Given the description of an element on the screen output the (x, y) to click on. 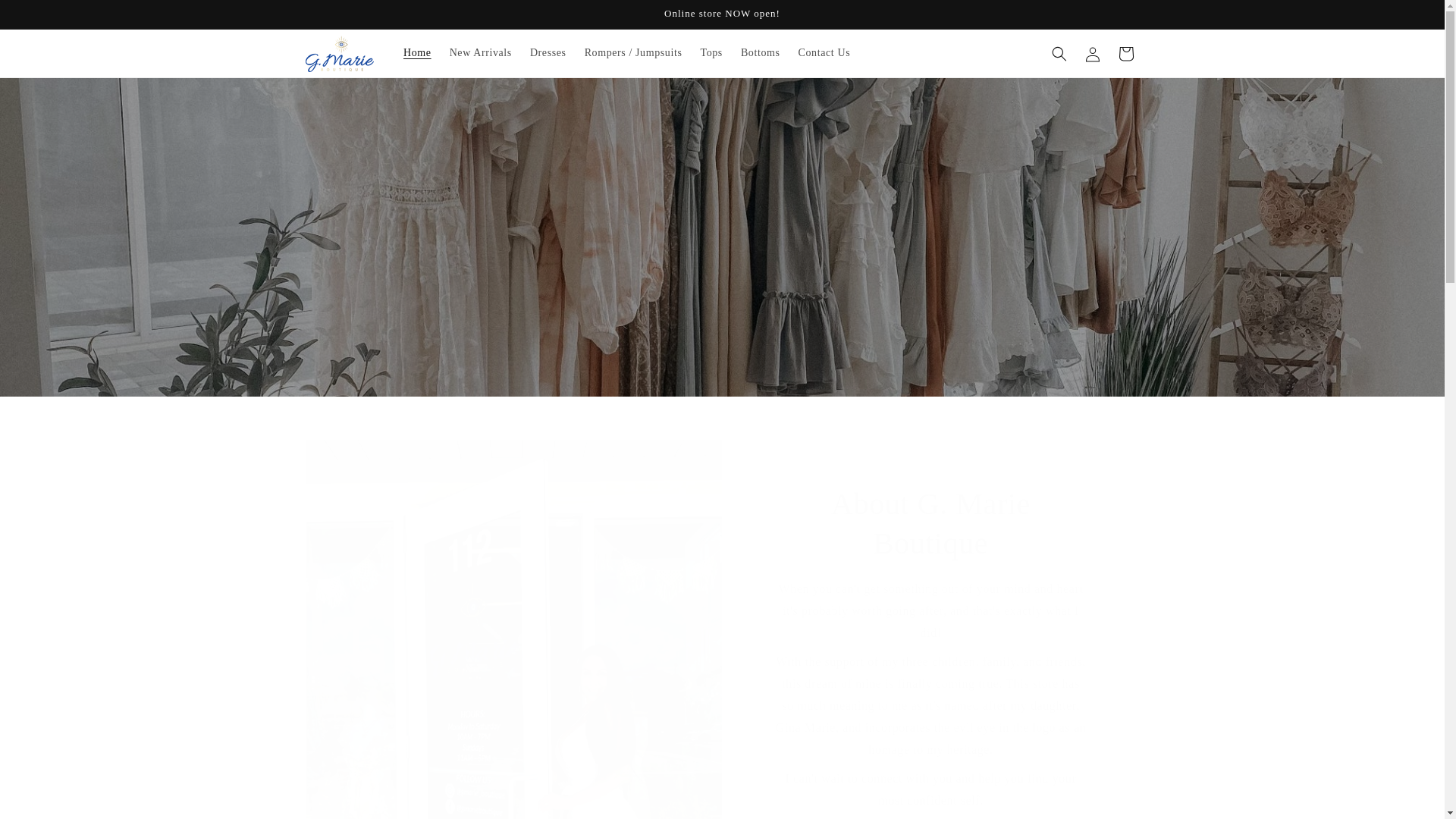
Contact Us (824, 52)
Dresses (548, 52)
Home (417, 52)
Skip to content (45, 17)
Log in (1091, 52)
New Arrivals (481, 52)
Bottoms (760, 52)
Cart (1124, 52)
Tops (710, 52)
